Given the description of an element on the screen output the (x, y) to click on. 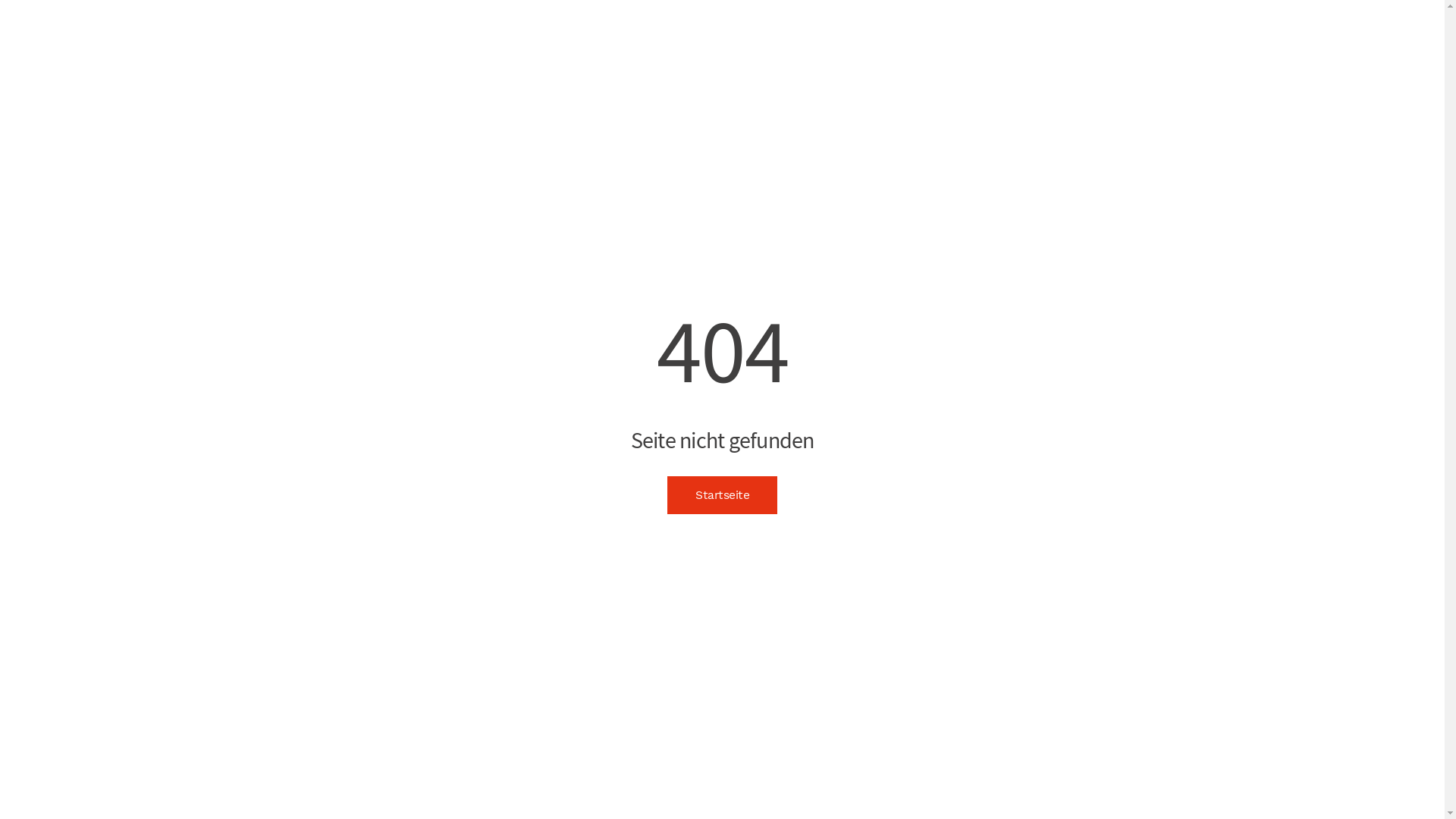
Startseite Element type: text (722, 495)
